Given the description of an element on the screen output the (x, y) to click on. 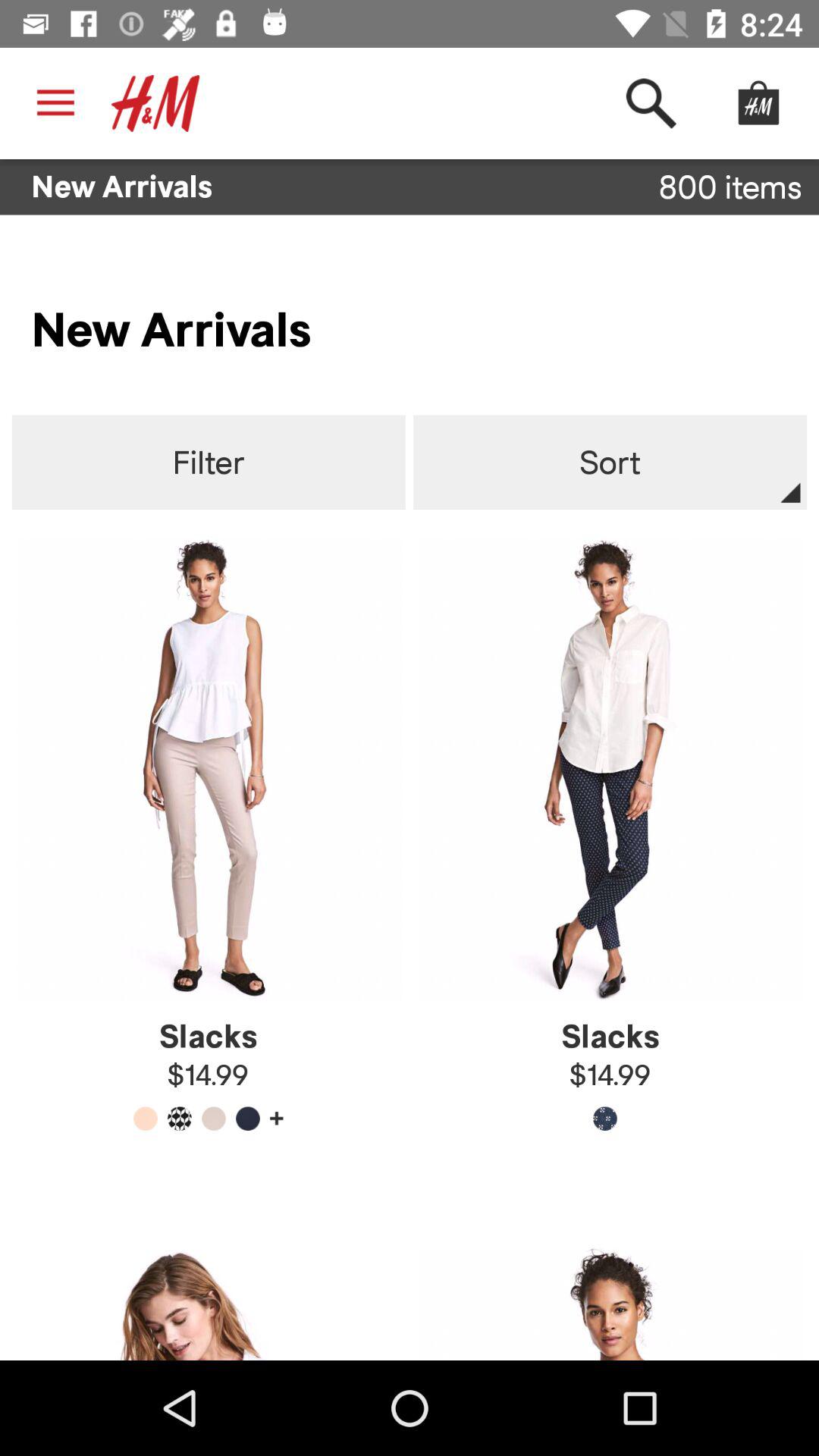
choose the item above new arrivals (650, 103)
